Given the description of an element on the screen output the (x, y) to click on. 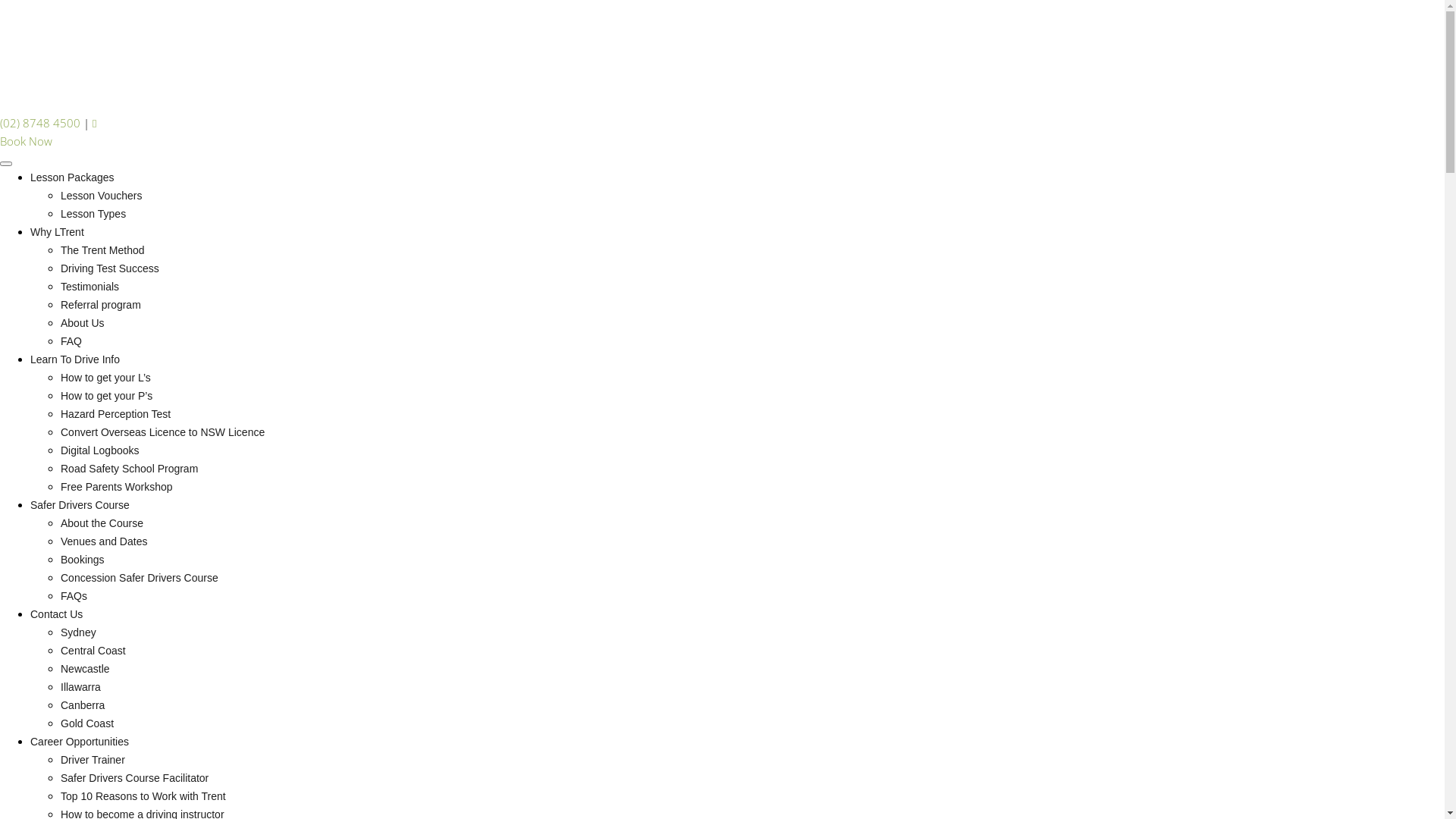
Convert Overseas Licence to NSW Licence Element type: text (162, 432)
Contact Us Element type: text (56, 614)
Book Now Element type: text (26, 140)
Safer Drivers Course Element type: text (79, 504)
About Us Element type: text (82, 322)
Central Coast Element type: text (92, 650)
FAQs Element type: text (73, 595)
Referral program Element type: text (100, 304)
Illawarra Element type: text (80, 686)
Career Opportunities Element type: text (79, 741)
Safer Drivers Course Facilitator Element type: text (134, 777)
Hazard Perception Test Element type: text (115, 413)
Sydney Element type: text (78, 632)
Concession Safer Drivers Course Element type: text (139, 577)
Driving Test Success Element type: text (109, 268)
Canberra Element type: text (82, 705)
FAQ Element type: text (70, 341)
(02) 8748 4500 Element type: text (40, 122)
Newcastle Element type: text (84, 668)
Lesson Packages Element type: text (72, 177)
Testimonials Element type: text (89, 286)
Top 10 Reasons to Work with Trent Element type: text (142, 796)
Gold Coast Element type: text (86, 723)
Driver Trainer Element type: text (92, 759)
Road Safety School Program Element type: text (128, 468)
Digital Logbooks Element type: text (99, 450)
Free Parents Workshop Element type: text (116, 486)
Bookings Element type: text (82, 559)
The Trent Method Element type: text (102, 250)
About the Course Element type: text (101, 523)
Lesson Vouchers Element type: text (100, 195)
Learn To Drive Info Element type: text (74, 359)
Venues and Dates Element type: text (103, 541)
Lesson Types Element type: text (92, 213)
Why LTrent Element type: text (57, 231)
